Given the description of an element on the screen output the (x, y) to click on. 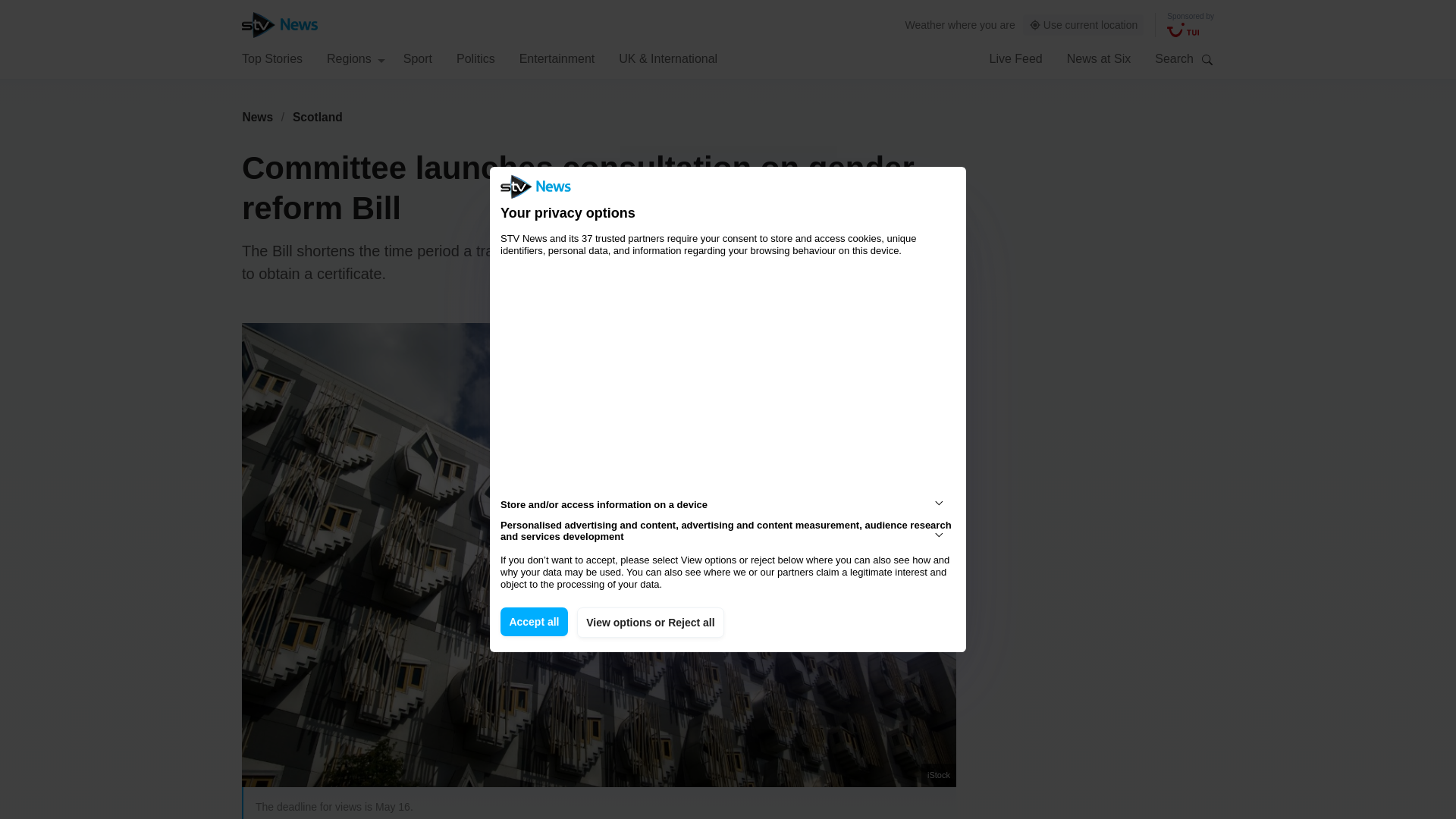
Scotland (317, 116)
Entertainment (557, 57)
News at Six (1099, 57)
Search (1206, 59)
Regions (355, 57)
Top Stories (271, 57)
News (257, 116)
Use current location (1083, 25)
Politics (476, 57)
